Given the description of an element on the screen output the (x, y) to click on. 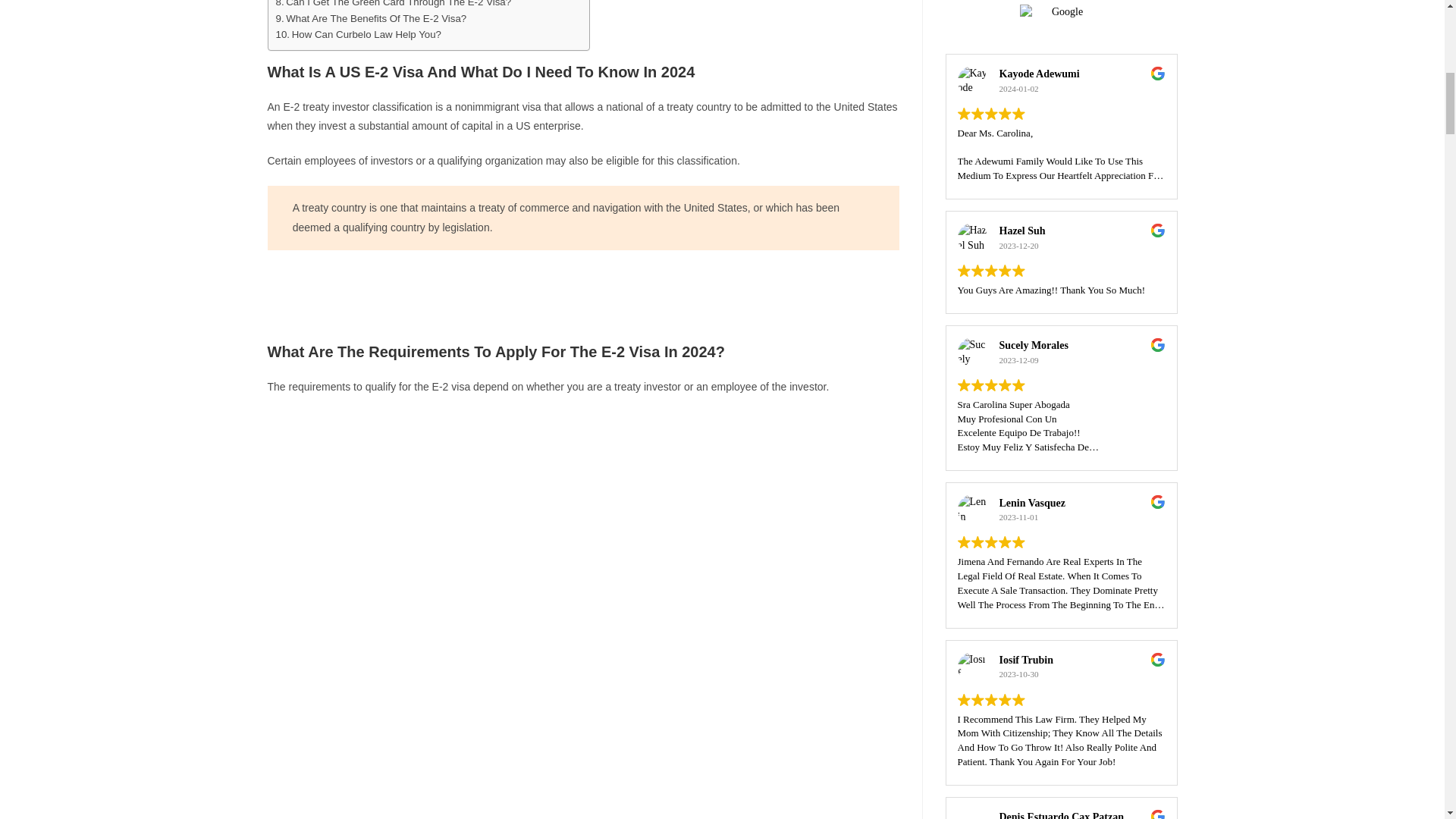
What Are The Benefits Of The E-2 Visa? (371, 18)
Can I Get The Green Card Through The E-2 Visa? (394, 4)
How Can Curbelo Law Help You? (359, 34)
